Given the description of an element on the screen output the (x, y) to click on. 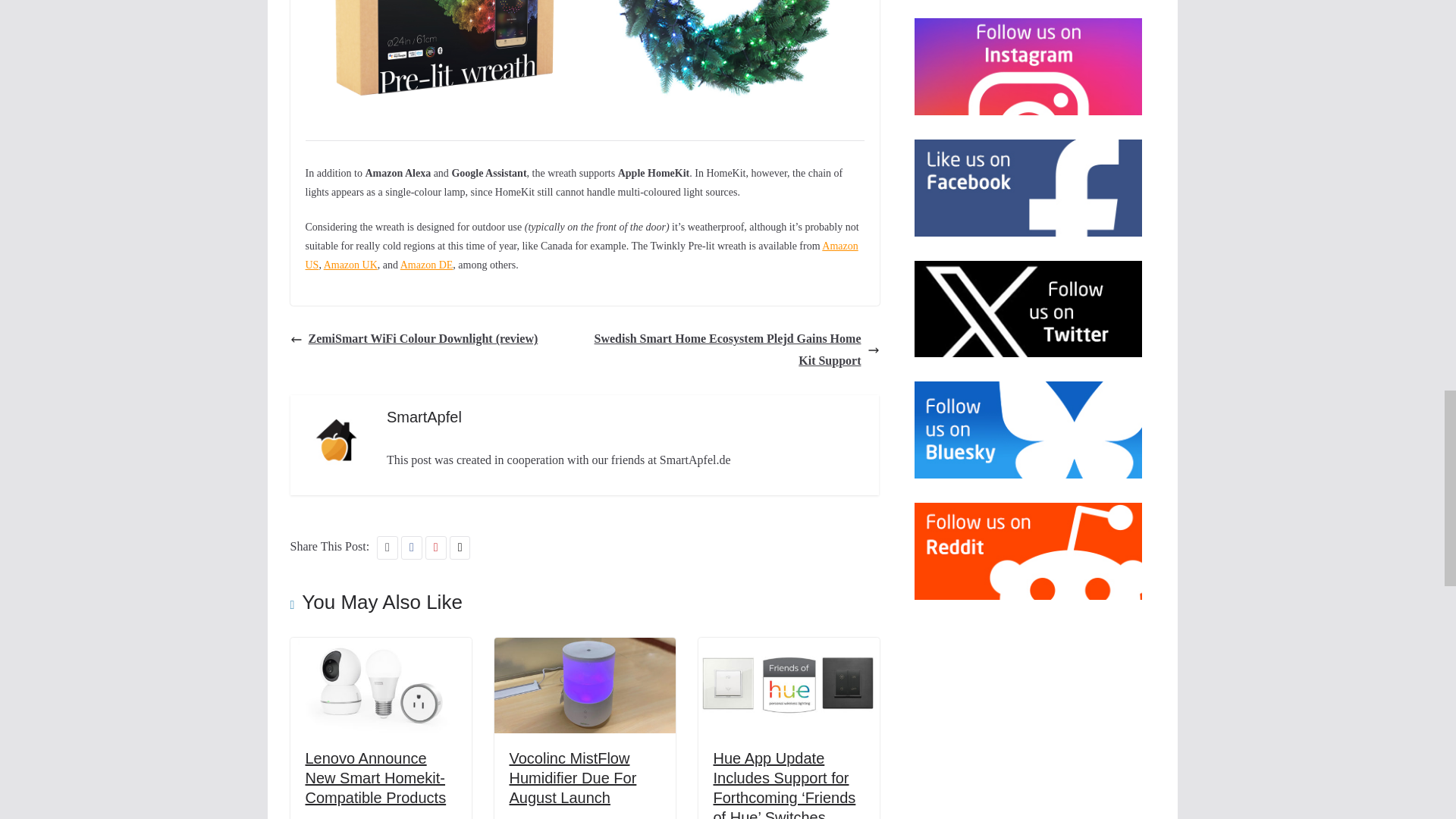
Lenovo Announce New Smart Homekit-Compatible Products (374, 777)
Vocolinc MistFlow Humidifier Due For August Launch (585, 647)
Vocolinc MistFlow Humidifier Due For August Launch (573, 777)
Lenovo Announce New Smart Homekit-Compatible Products (379, 647)
